Given the description of an element on the screen output the (x, y) to click on. 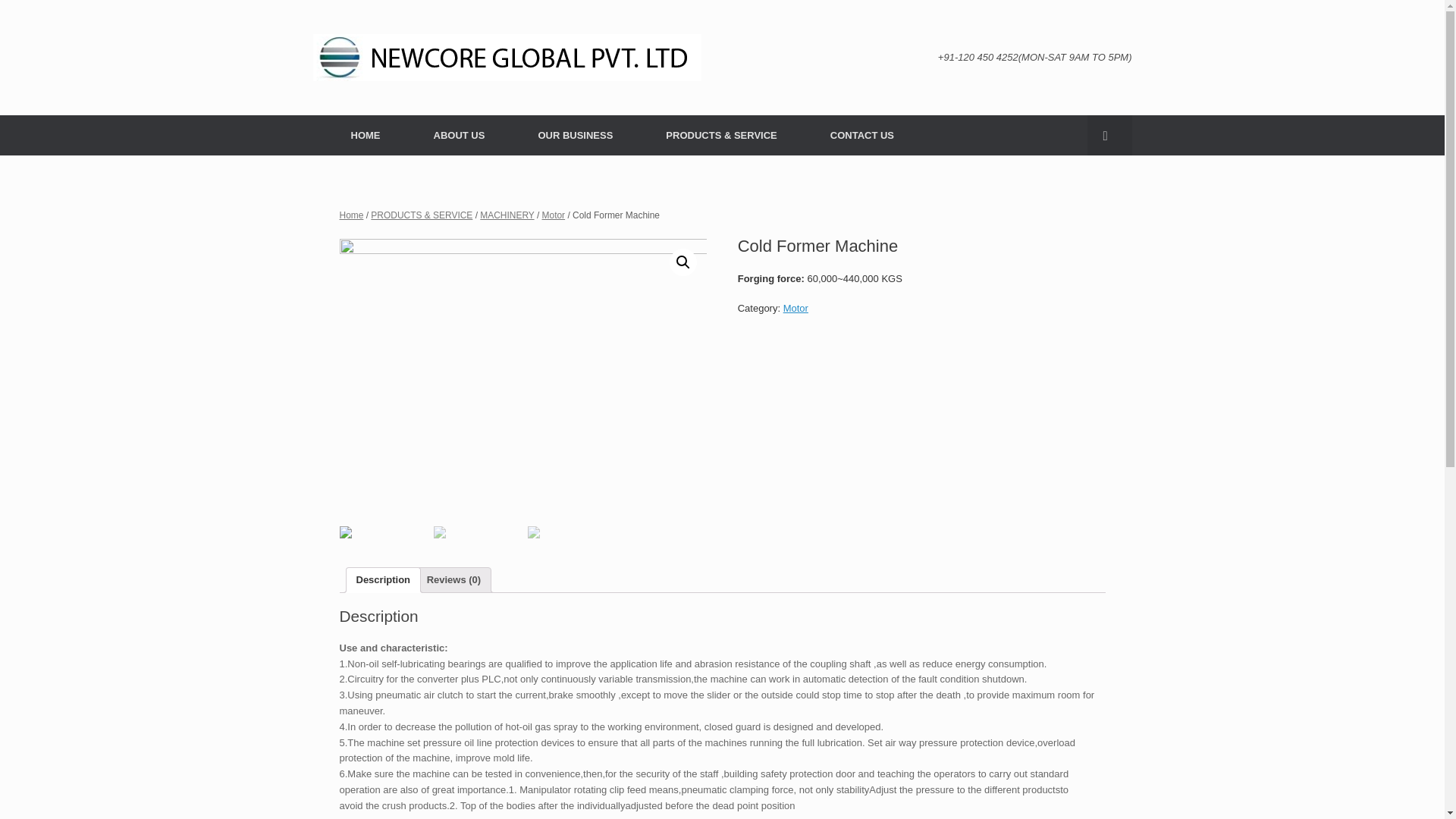
Cold Former Machine (523, 376)
HOME (359, 135)
NEWCORE GLOBAL PVT. LTD (506, 57)
Description (383, 580)
Motor (795, 307)
ABOUT US (458, 135)
OUR BUSINESS (575, 135)
MACHINERY (507, 214)
CONTACT US (861, 135)
Motor (553, 214)
Home (351, 214)
